Given the description of an element on the screen output the (x, y) to click on. 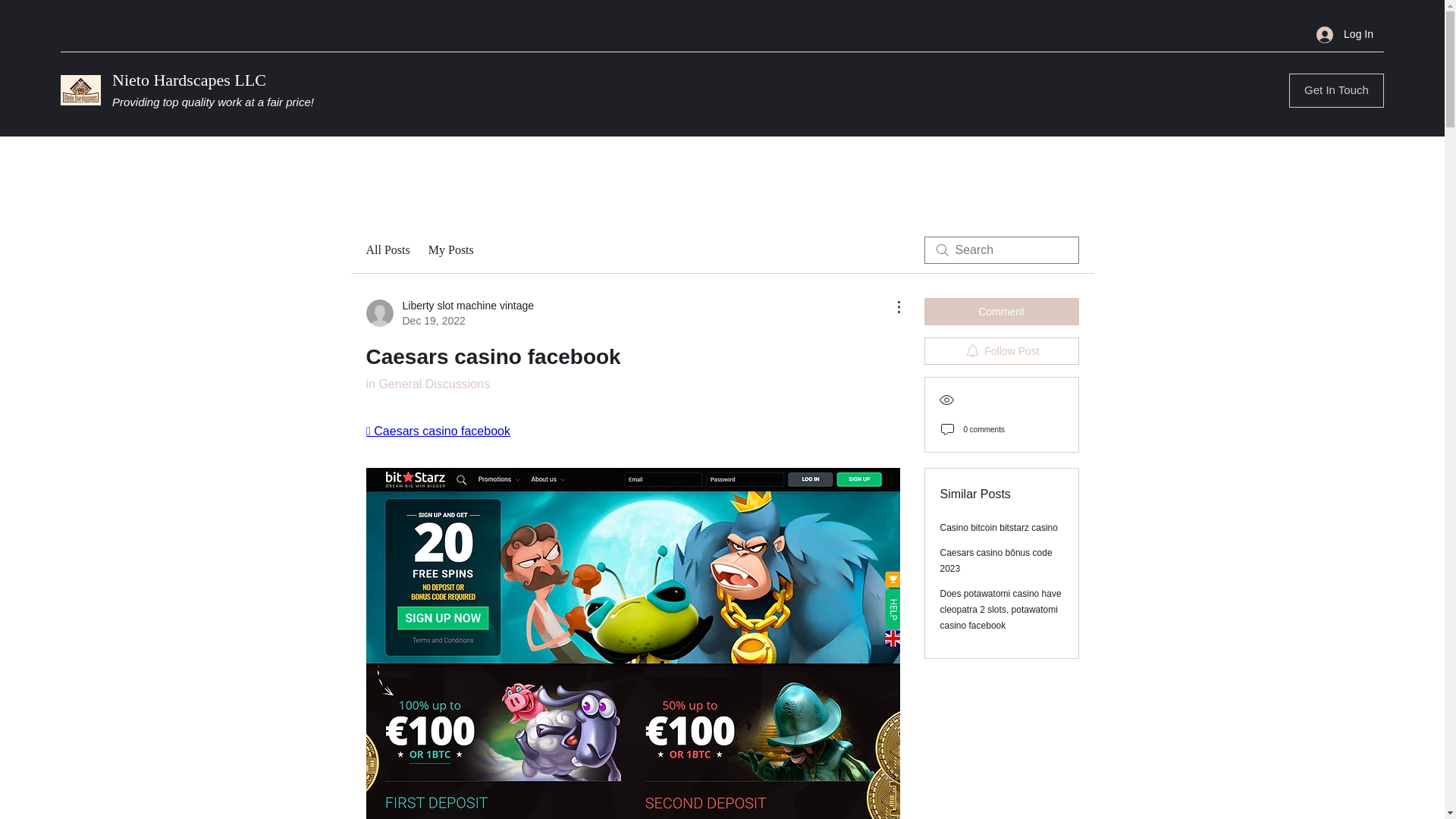
Log In (1345, 34)
Get In Touch (1336, 90)
in General Discussions (427, 383)
Nieto Hardscapes LLC (449, 313)
Comment (189, 79)
Casino bitcoin bitstarz casino (1000, 311)
Follow Post (999, 527)
My Posts (1000, 350)
All Posts (451, 249)
